Given the description of an element on the screen output the (x, y) to click on. 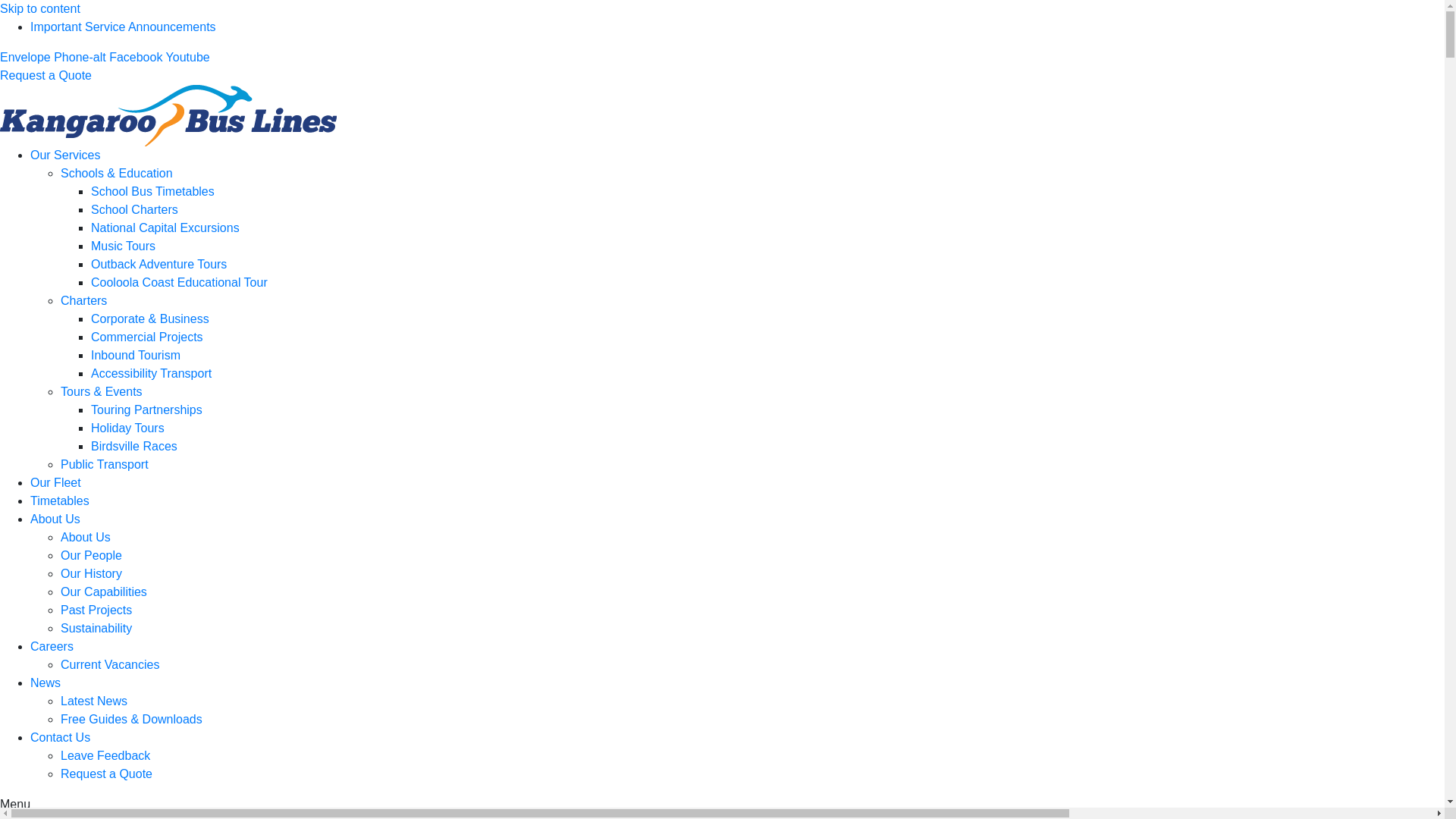
Touring Partnerships Element type: text (146, 409)
Schools & Education Element type: text (116, 172)
Youtube Element type: text (188, 56)
Accessibility Transport Element type: text (151, 373)
Tours & Events Element type: text (101, 391)
Holiday Tours Element type: text (127, 427)
Music Tours Element type: text (123, 245)
Our People Element type: text (91, 555)
Our Fleet Element type: text (55, 482)
Facebook Element type: text (137, 56)
Charters Element type: text (83, 300)
Cooloola Coast Educational Tour Element type: text (179, 282)
Request a Quote Element type: text (106, 773)
Phone-alt Element type: text (81, 56)
News Element type: text (45, 682)
Contact Us Element type: text (60, 737)
Current Vacancies Element type: text (109, 664)
School Charters Element type: text (134, 209)
School Bus Timetables Element type: text (152, 191)
Inbound Tourism Element type: text (135, 354)
Leave Feedback Element type: text (105, 755)
Outback Adventure Tours Element type: text (158, 263)
Request a Quote Element type: text (45, 75)
Corporate & Business Element type: text (150, 318)
Important Service Announcements Element type: text (123, 26)
Timetables Element type: text (59, 500)
Birdsville Races Element type: text (134, 445)
Latest News Element type: text (93, 700)
Our History Element type: text (91, 573)
Past Projects Element type: text (95, 609)
Sustainability Element type: text (95, 627)
Public Transport Element type: text (104, 464)
Careers Element type: text (51, 646)
Free Guides & Downloads Element type: text (131, 718)
Our Capabilities Element type: text (103, 591)
About Us Element type: text (55, 518)
Our Services Element type: text (65, 154)
National Capital Excursions Element type: text (165, 227)
Envelope Element type: text (26, 56)
Commercial Projects Element type: text (147, 336)
About Us Element type: text (85, 536)
Skip to content Element type: text (40, 8)
